Given the description of an element on the screen output the (x, y) to click on. 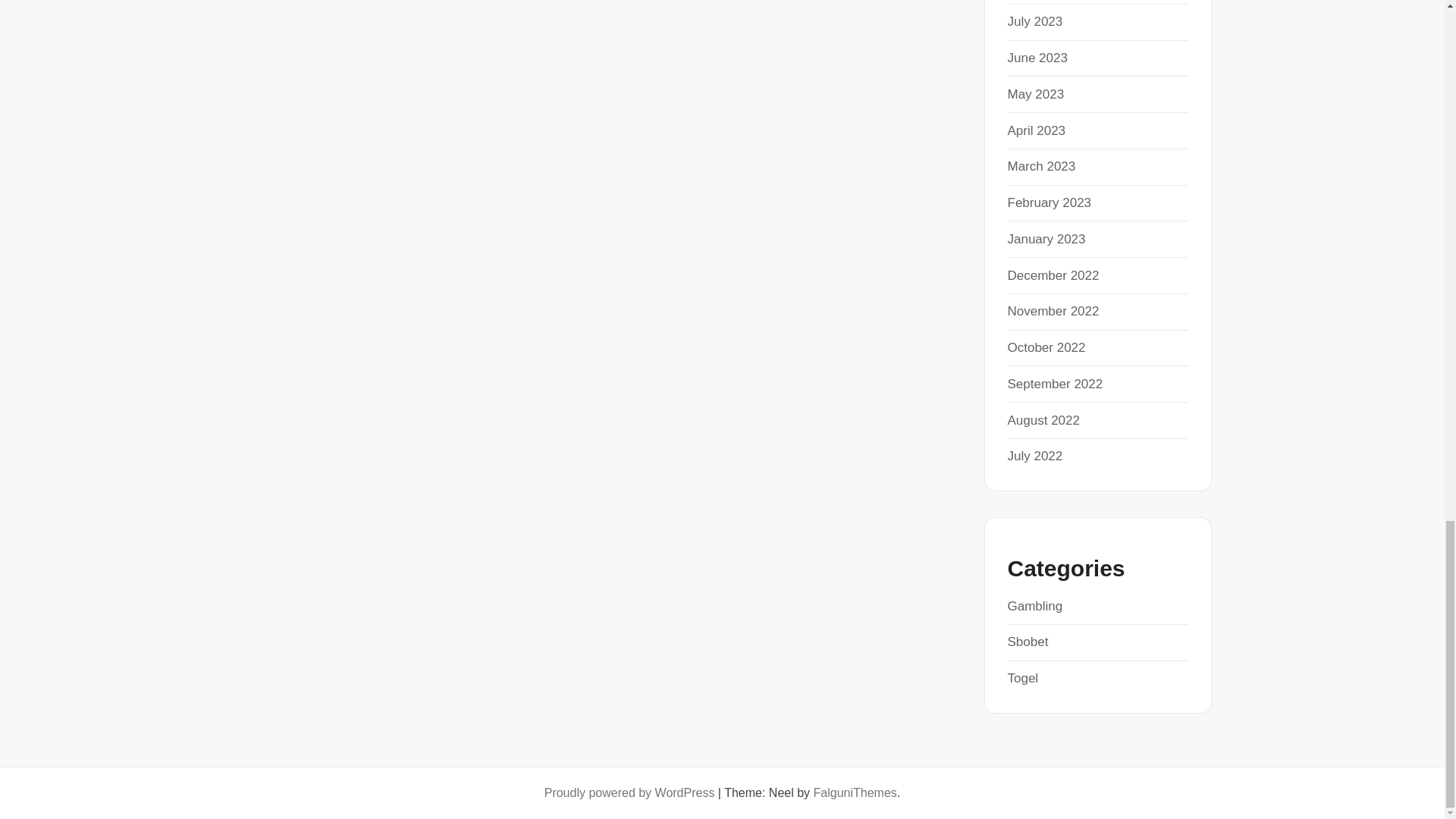
February 2023 (1048, 202)
May 2023 (1035, 93)
June 2023 (1037, 57)
March 2023 (1041, 165)
July 2023 (1034, 21)
April 2023 (1036, 130)
January 2023 (1045, 238)
December 2022 (1053, 275)
